Given the description of an element on the screen output the (x, y) to click on. 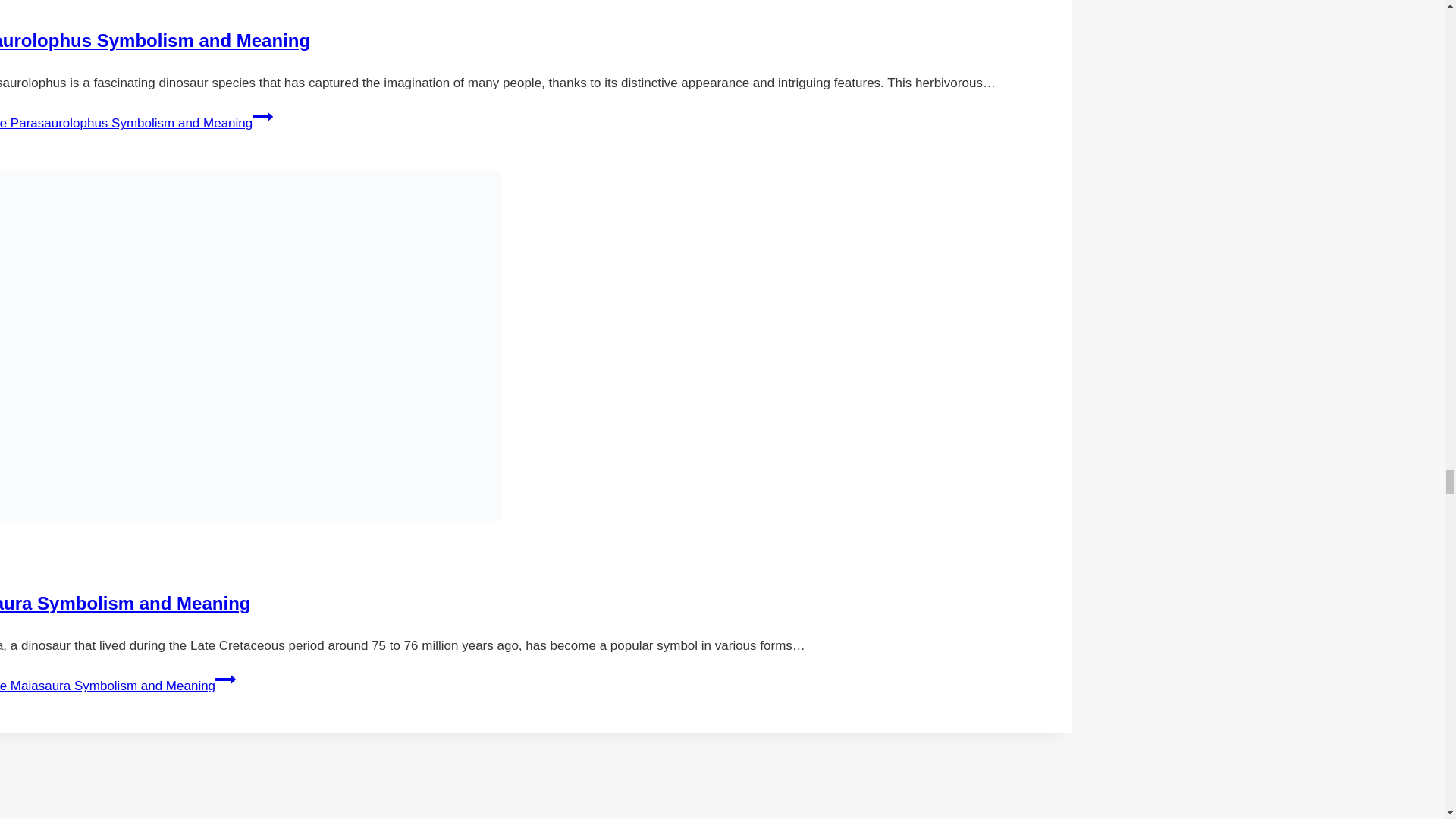
Continue (262, 116)
